Given the description of an element on the screen output the (x, y) to click on. 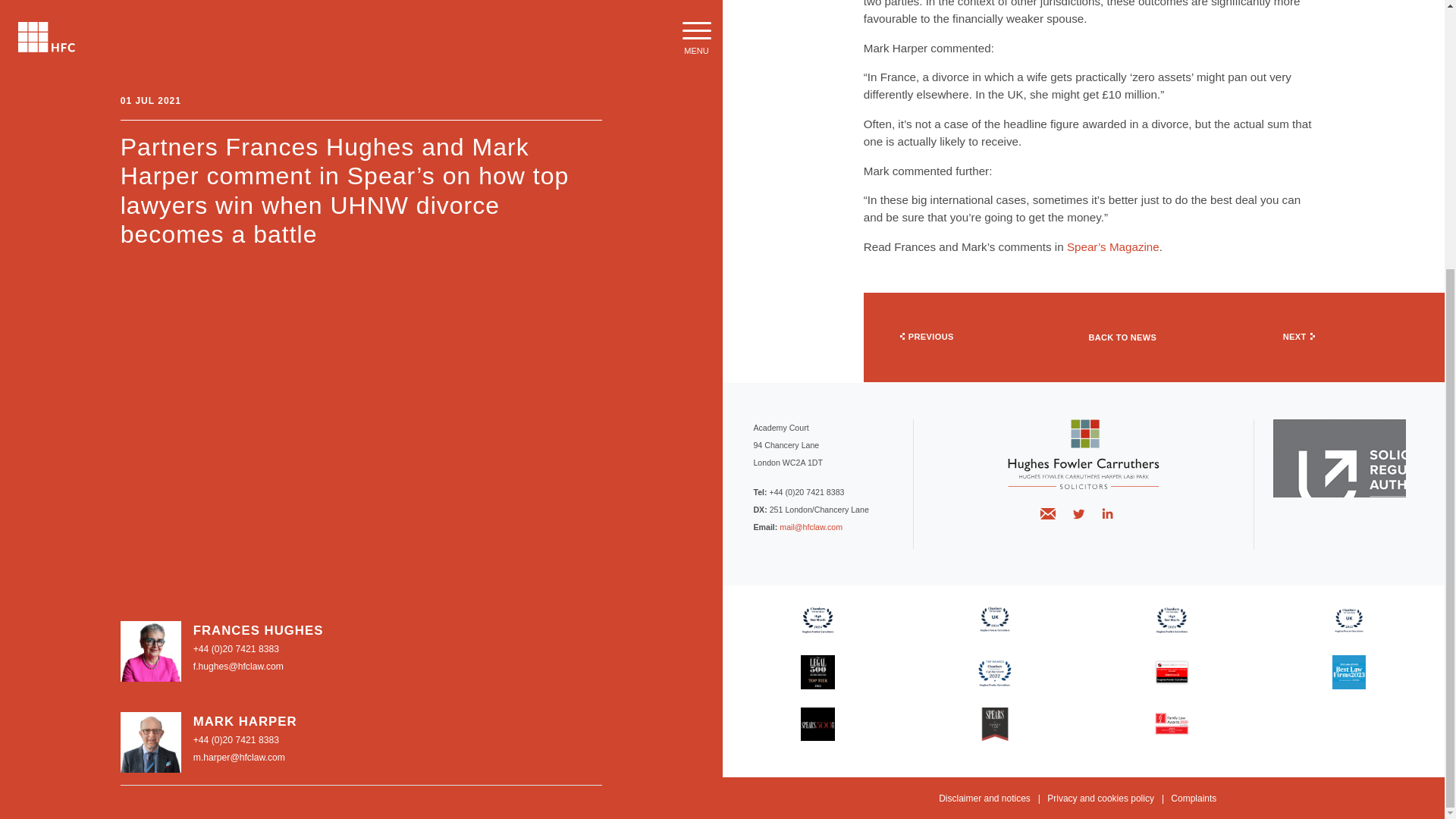
Email (239, 364)
Phone (236, 347)
Phone (236, 255)
Email (238, 273)
